Given the description of an element on the screen output the (x, y) to click on. 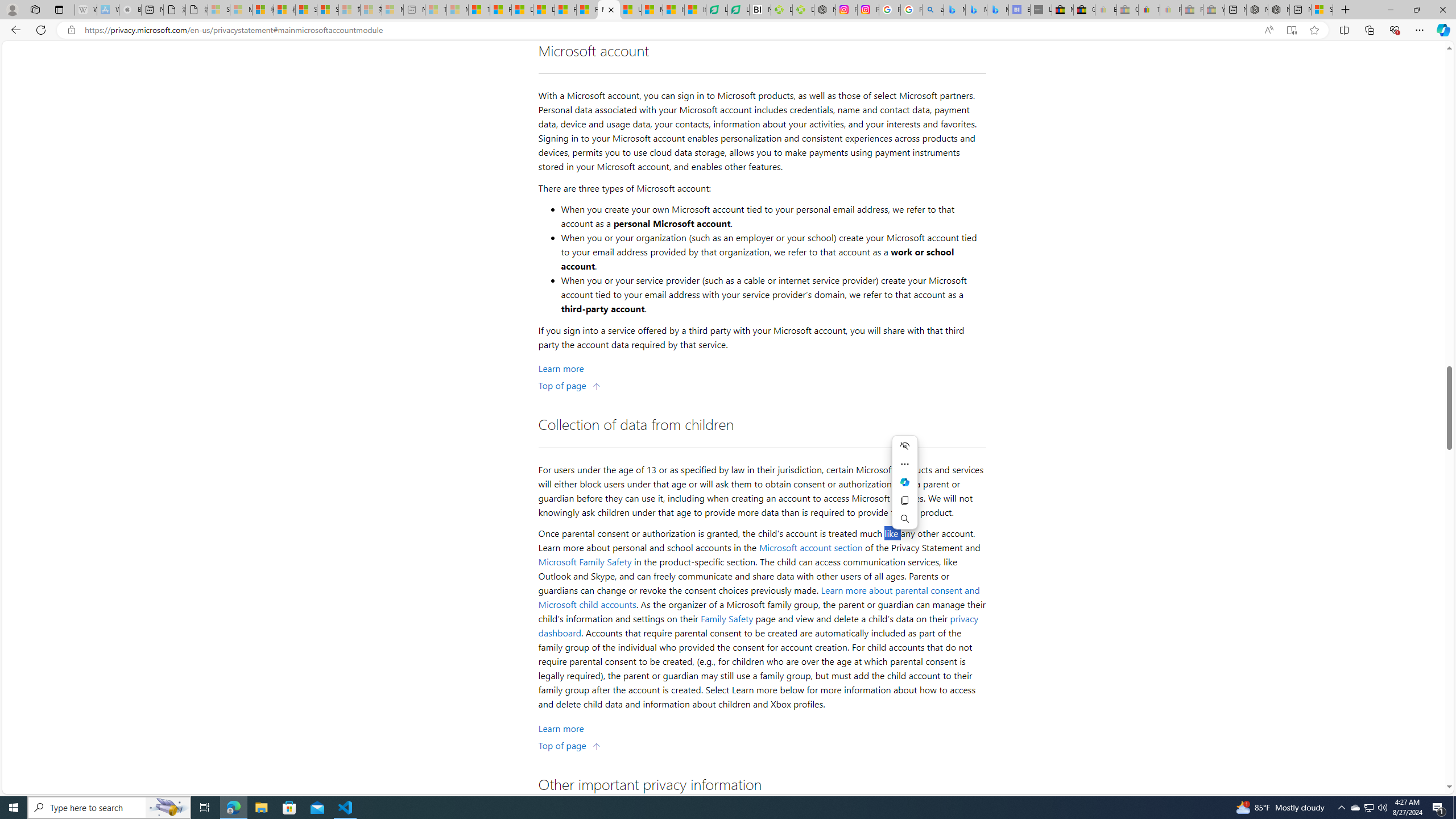
Copy (904, 500)
Nordace - Summer Adventures 2024 (1278, 9)
Microsoft account | Account Checkup - Sleeping (392, 9)
Nvidia va a poner a prueba la paciencia de los inversores (760, 9)
Ask Copilot (904, 482)
Foo BAR | Trusted Community Engagement and Contributions (587, 9)
Mini menu on text selection (904, 488)
privacy dashboard (758, 625)
Drinking tea every day is proven to delay biological aging (543, 9)
